Given the description of an element on the screen output the (x, y) to click on. 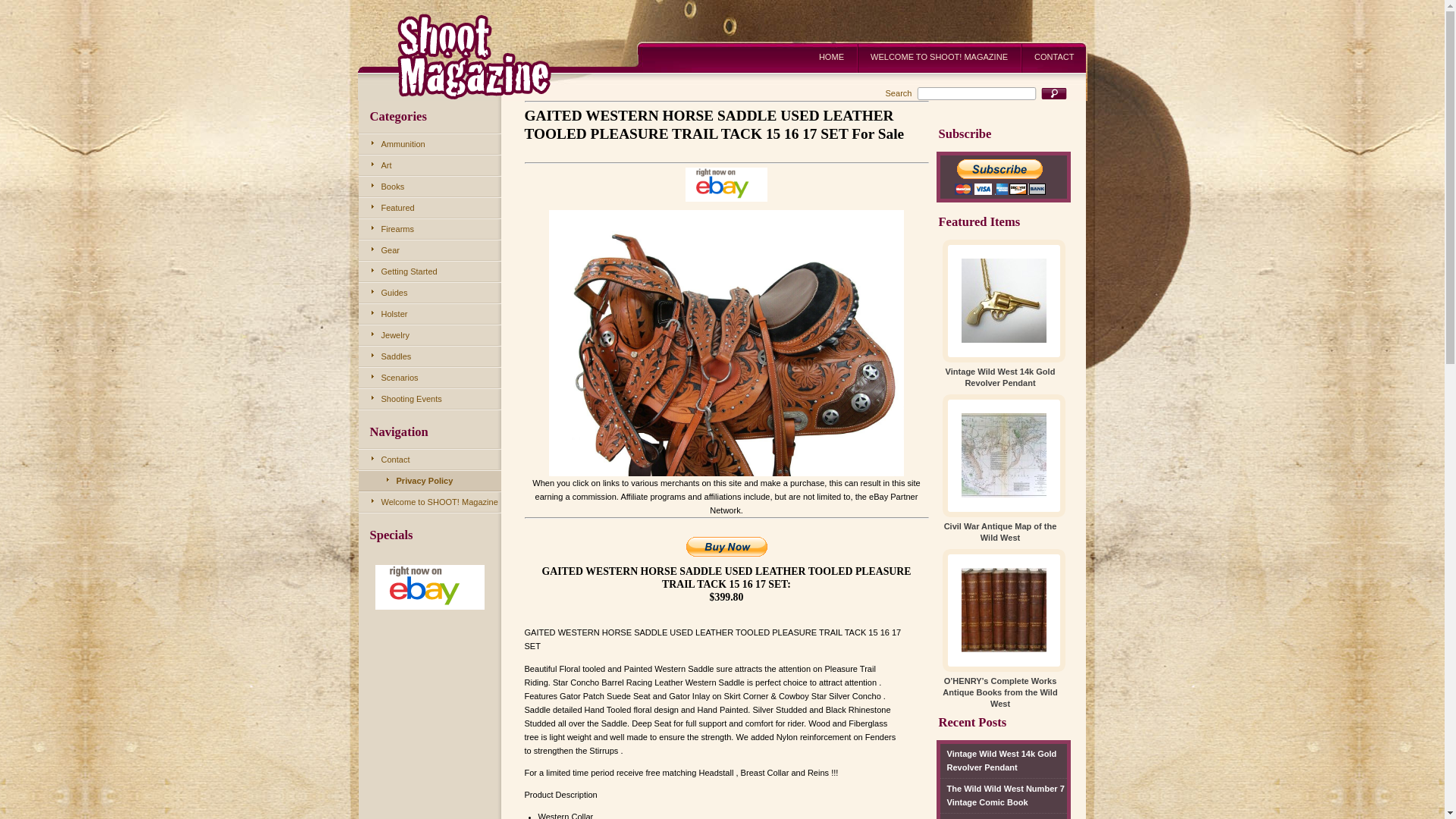
Buy Now (726, 546)
antique-civil-war-map-wild-west (1003, 455)
Civil War Antique Map of the Wild West (1000, 531)
HOME (831, 54)
WELCOME TO SHOOT! MAGAZINE (938, 54)
Civil War Antique Map of the Wild West (1003, 816)
Civil War Antique Map of the Wild West (1003, 816)
The Wild Wild West Number 7 Vintage Comic Book (1003, 796)
Vintage Wild West 14k Gold Revolver Pendant (1000, 377)
vintage-gold-revolver-pendant (1003, 300)
